Given the description of an element on the screen output the (x, y) to click on. 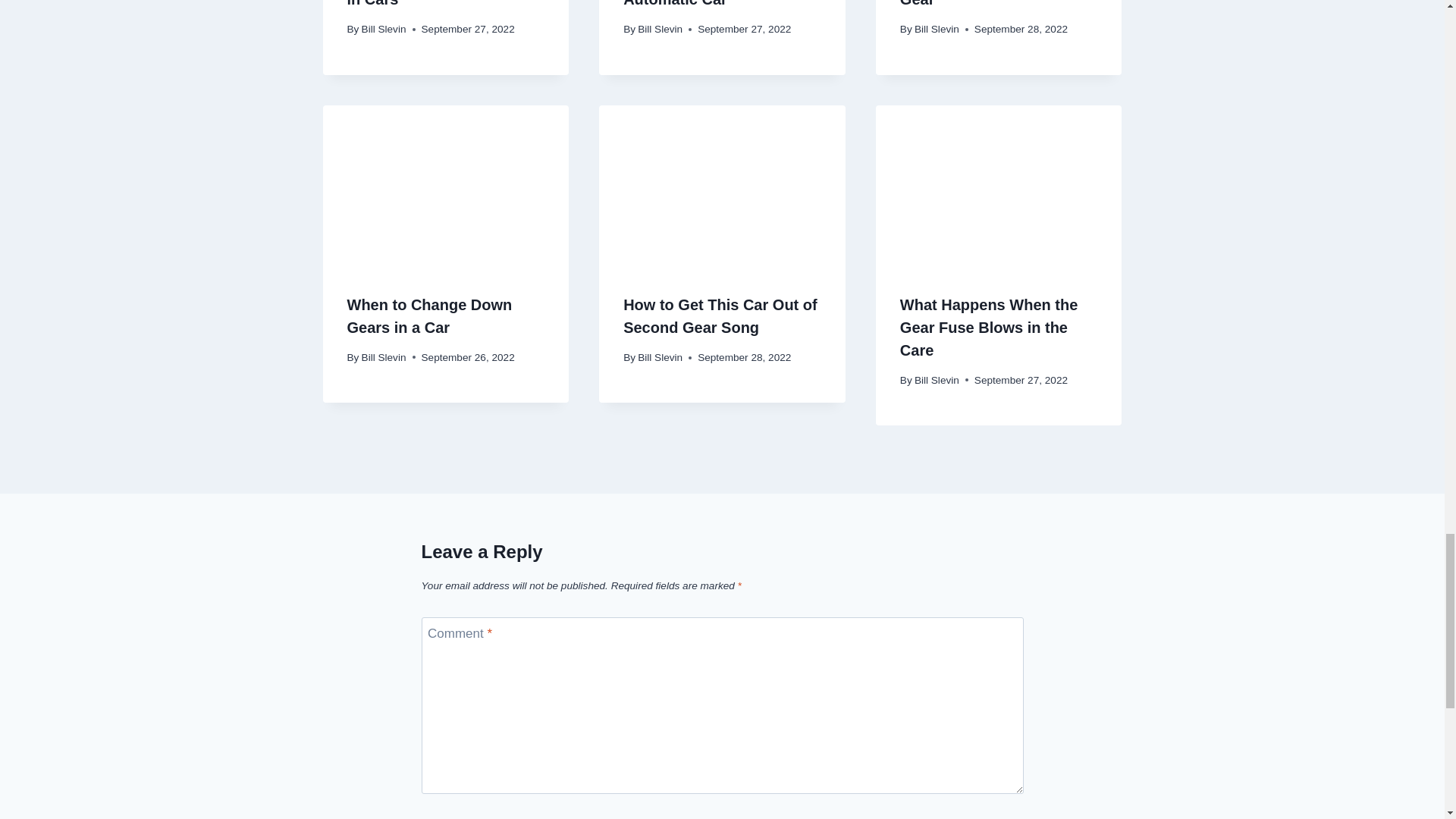
Bill Slevin (659, 29)
Bill Slevin (383, 29)
What Are the Lower Gears in Cars (441, 3)
What Is a Lower Gear in an Automatic Car (719, 3)
